Given the description of an element on the screen output the (x, y) to click on. 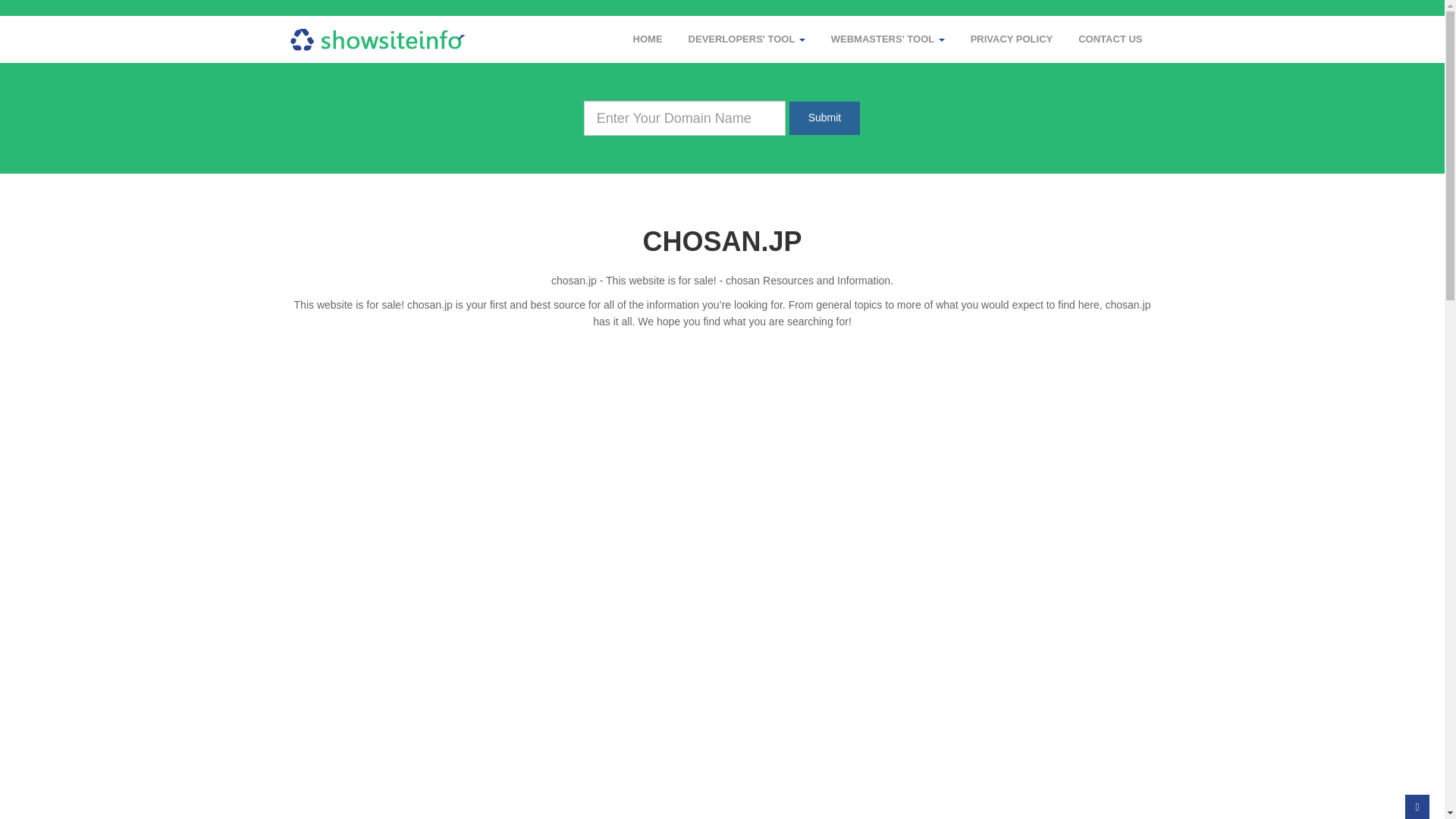
DEVERLOPERS' TOOL (746, 39)
CONTACT US (1109, 39)
Submit (825, 117)
WEBMASTERS' TOOL (887, 39)
PRIVACY POLICY (1011, 39)
HOME (648, 39)
